Given the description of an element on the screen output the (x, y) to click on. 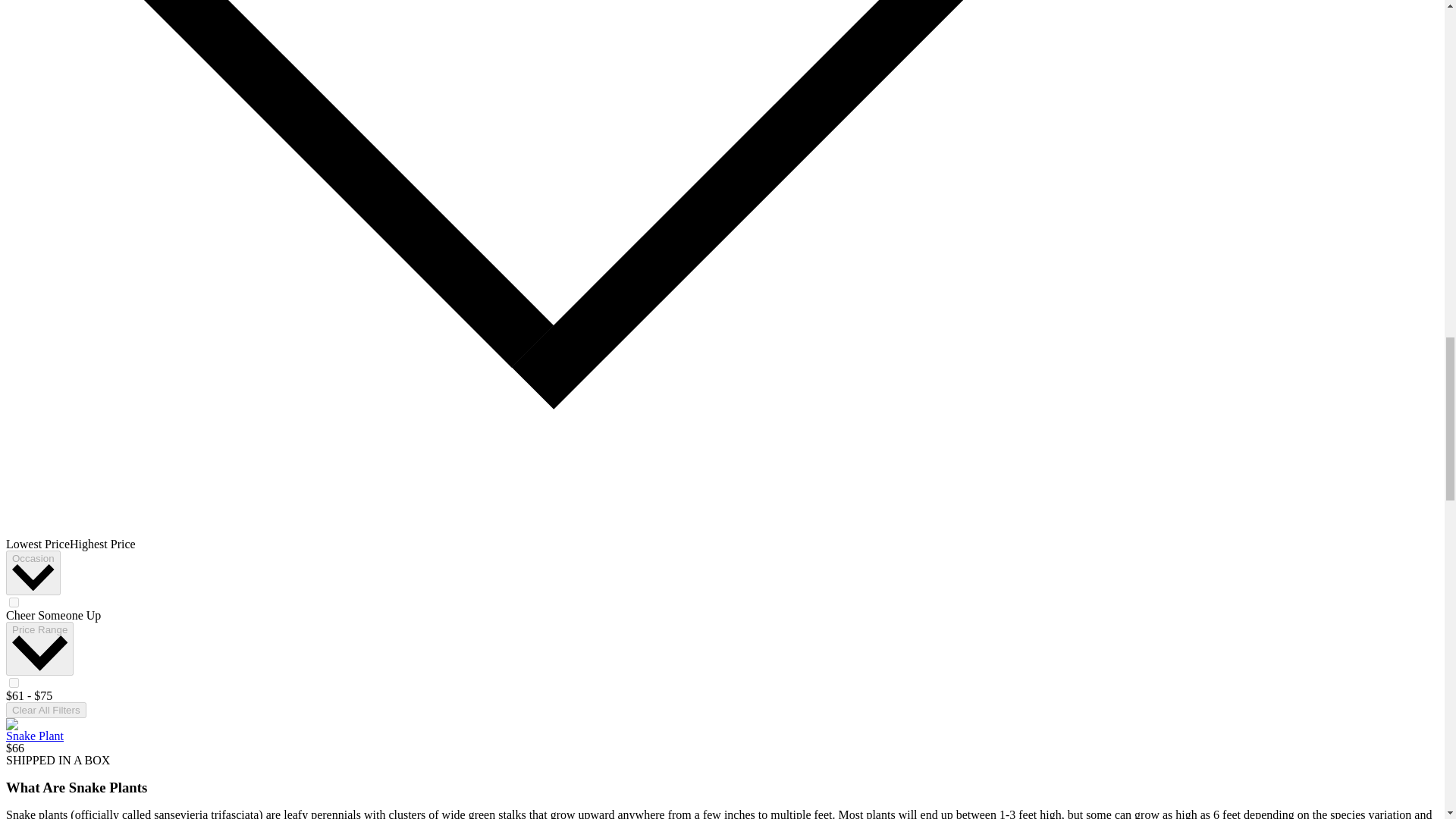
1 (13, 602)
1 (13, 682)
